Given the description of an element on the screen output the (x, y) to click on. 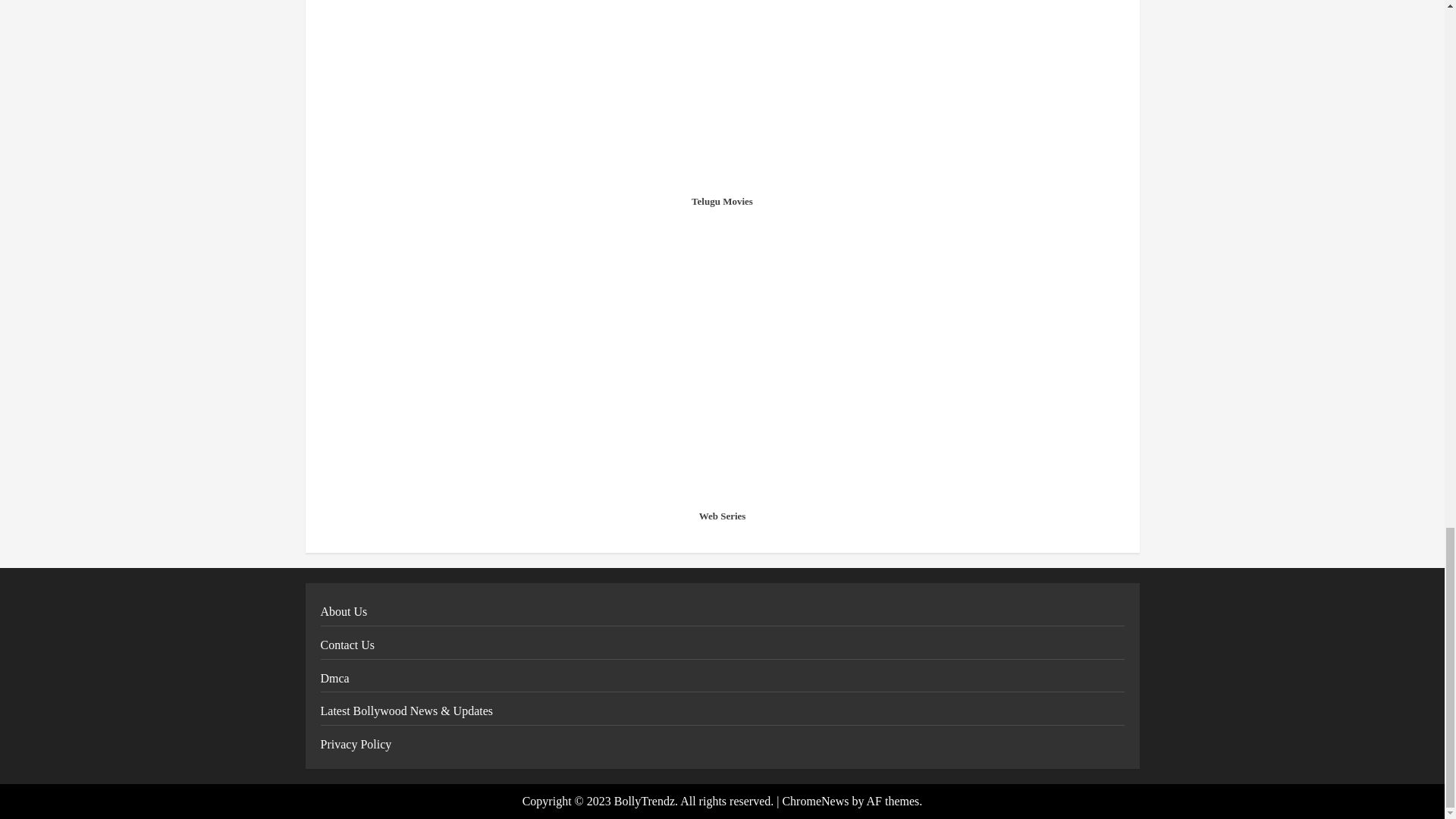
Telugu Movies (721, 201)
Contact Us (347, 644)
Dmca (334, 678)
Privacy Policy (355, 744)
Web Series (721, 515)
About Us (343, 612)
ChromeNews (814, 800)
